Given the description of an element on the screen output the (x, y) to click on. 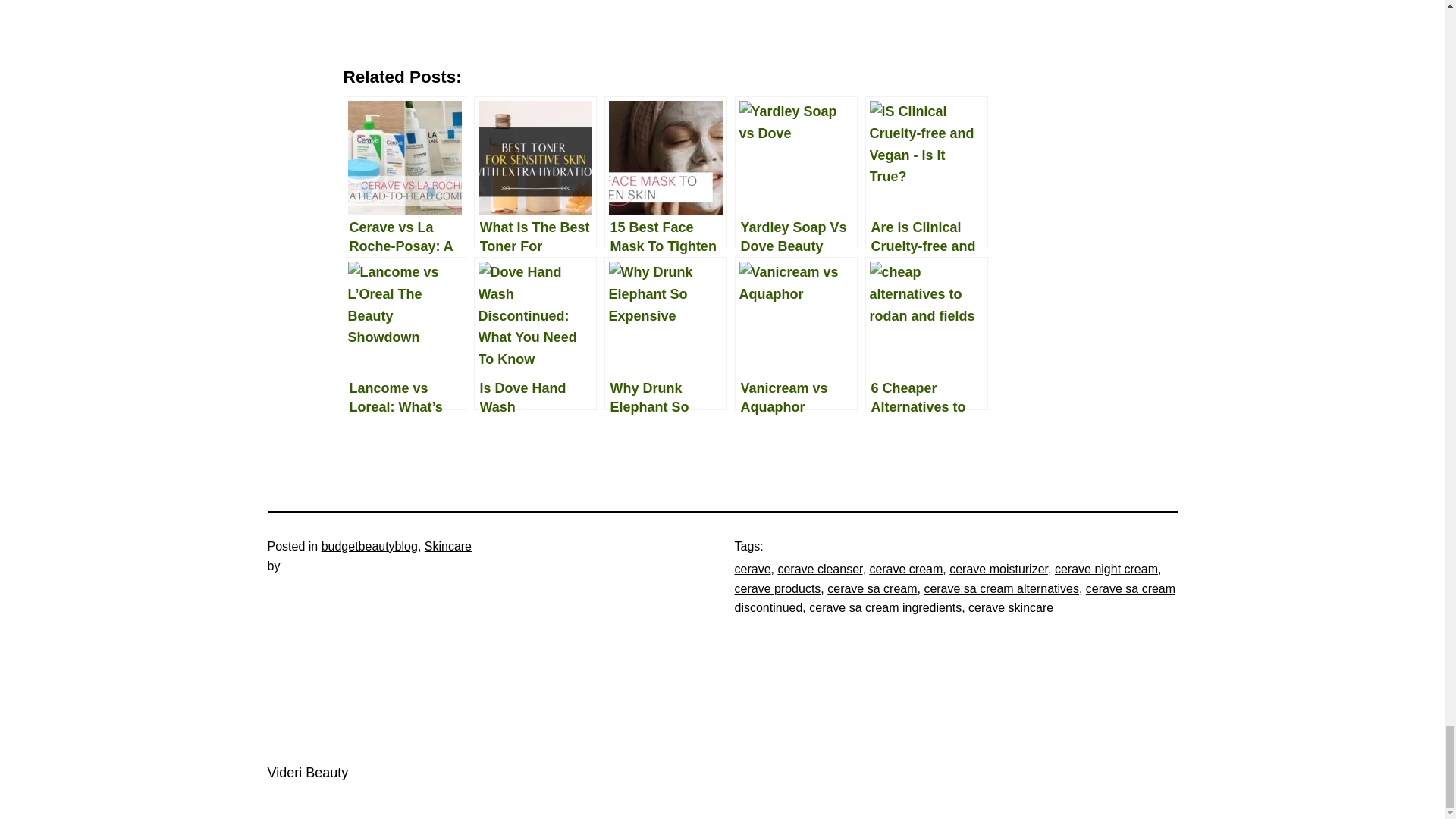
cerave products (777, 588)
cerave (751, 568)
What Is The Best Toner For Sensitive Skin: Expert Reviews (535, 172)
cerave night cream (1105, 568)
cerave moisturizer (998, 568)
Cerave vs La Roche-Posay: A Head-To-Head Comparison 2024 (403, 172)
Cerave vs La Roche-Posay: A Head-To-Head Comparison 2024 (403, 172)
Skincare (448, 545)
cerave cleanser (819, 568)
budgetbeautyblog (369, 545)
cerave sa cream (872, 588)
